Given the description of an element on the screen output the (x, y) to click on. 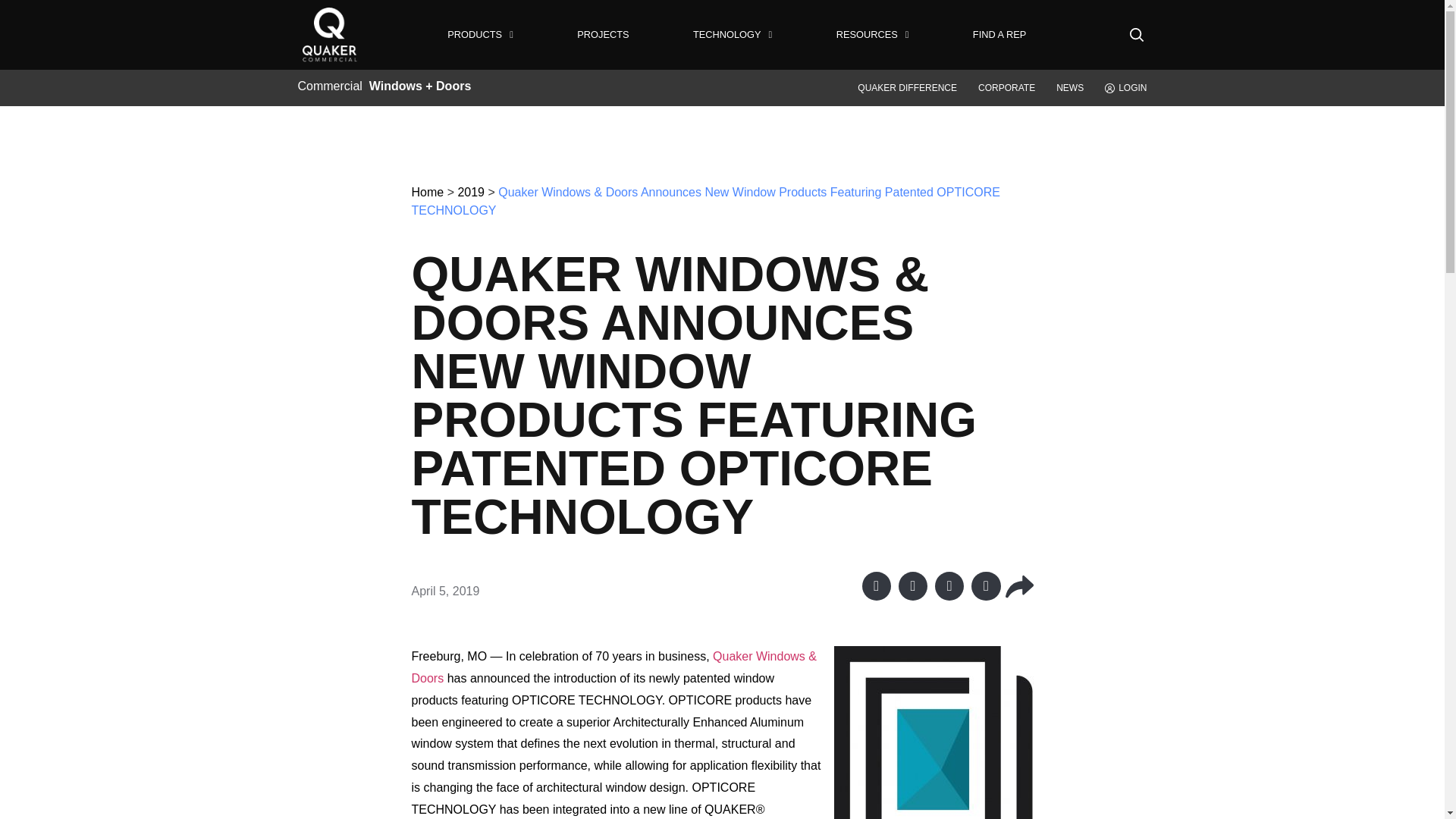
Go to the 2019 category archives. (470, 192)
PRODUCTS (480, 34)
